Given the description of an element on the screen output the (x, y) to click on. 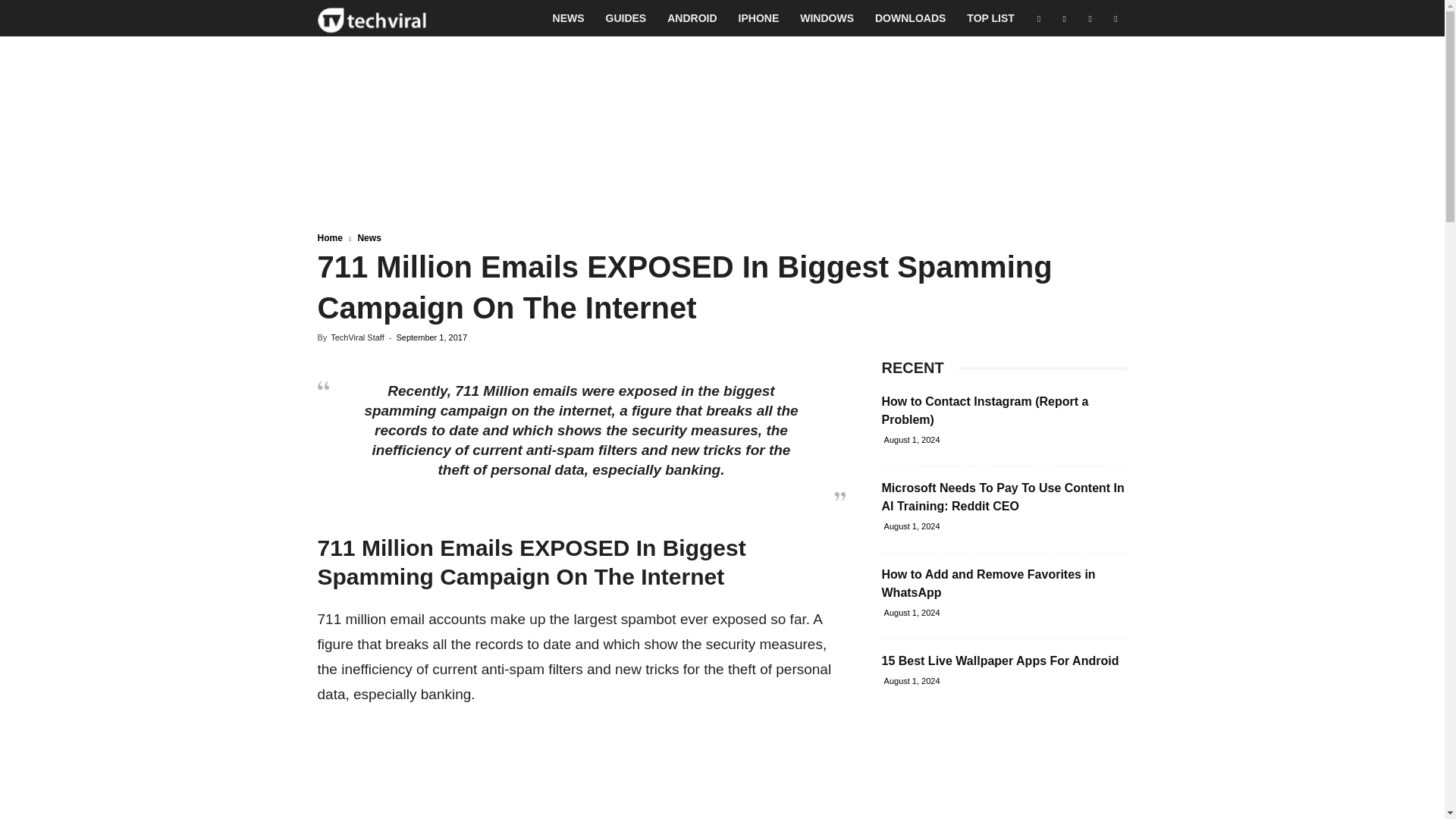
WINDOWS (826, 18)
TOP LIST (990, 18)
Home (329, 237)
GUIDES (626, 18)
Tech Viral (371, 18)
TechViral Staff (357, 337)
DOWNLOADS (910, 18)
ANDROID (691, 18)
NEWS (568, 18)
IPHONE (759, 18)
TechViral (371, 18)
